Given the description of an element on the screen output the (x, y) to click on. 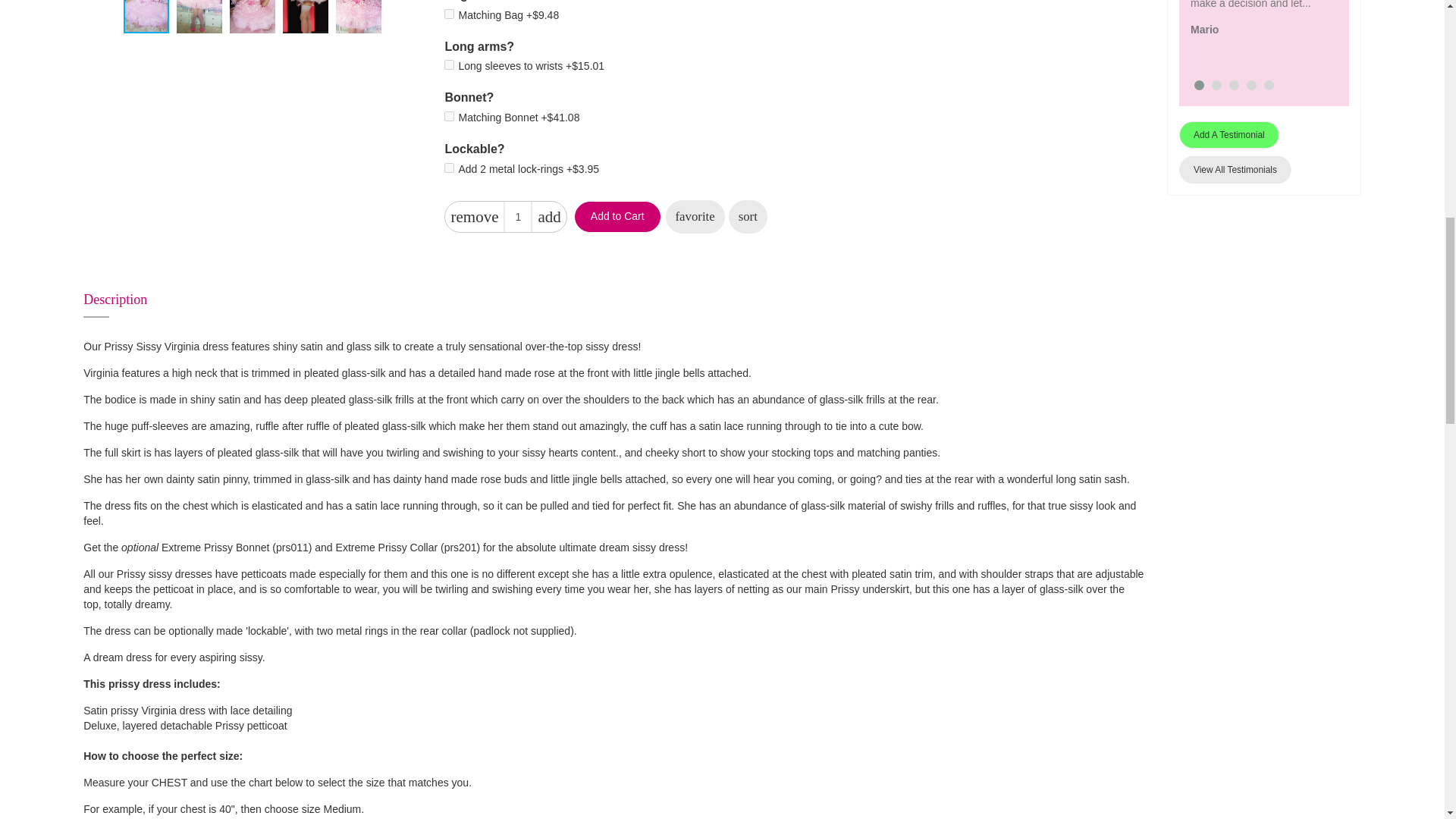
160 (449, 116)
1 (517, 216)
Add to Compare (748, 216)
112 (449, 13)
195 (449, 64)
Add to Wishlist (695, 216)
205 (449, 167)
